Given the description of an element on the screen output the (x, y) to click on. 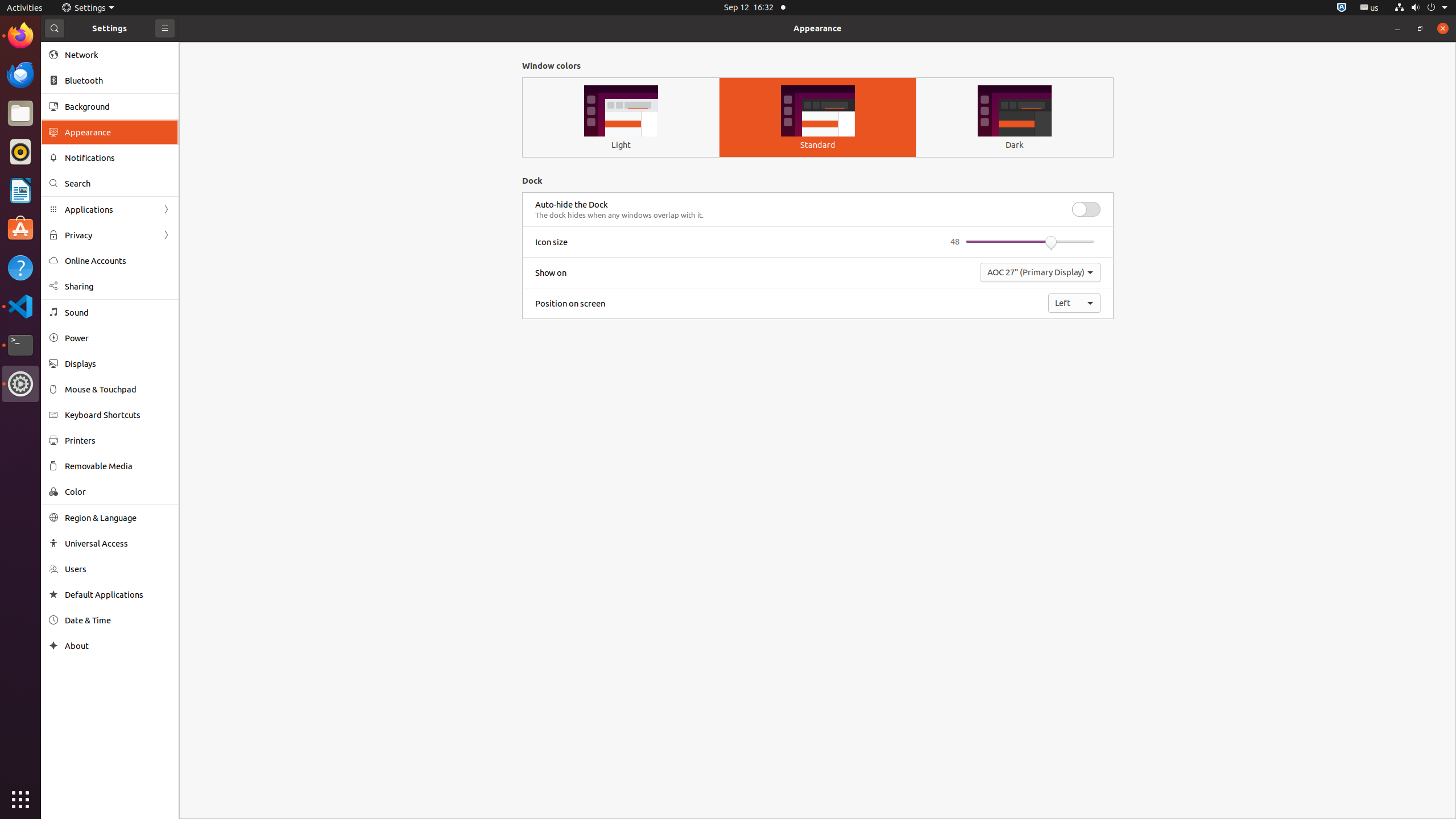
Close Element type: push-button (1442, 27)
Search Element type: label (117, 183)
Primary Menu Element type: toggle-button (164, 28)
Minimize Element type: push-button (1397, 27)
Window colors Element type: label (817, 65)
